Given the description of an element on the screen output the (x, y) to click on. 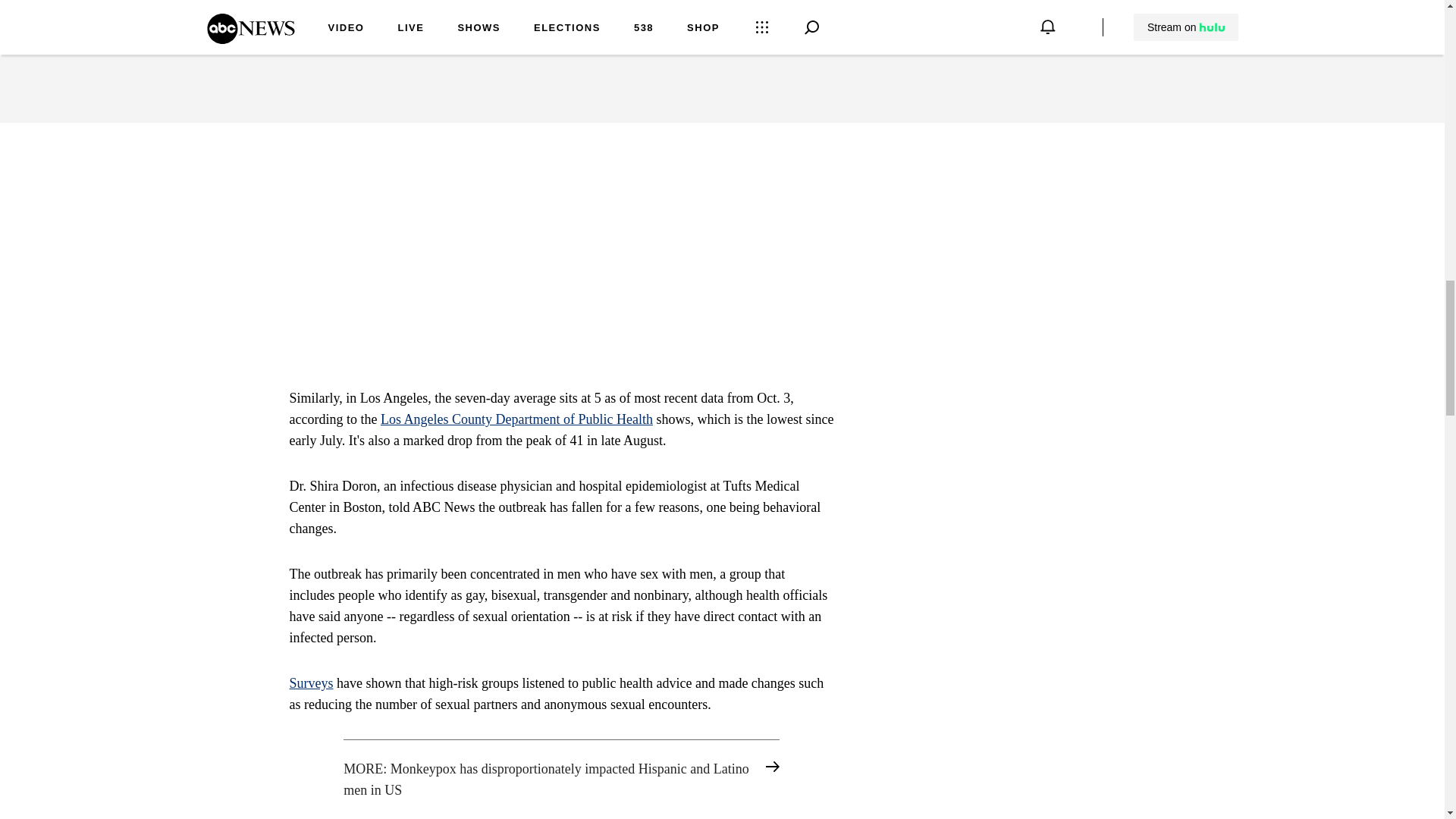
Los Angeles County Department of Public Health (516, 418)
Surveys (311, 683)
